Given the description of an element on the screen output the (x, y) to click on. 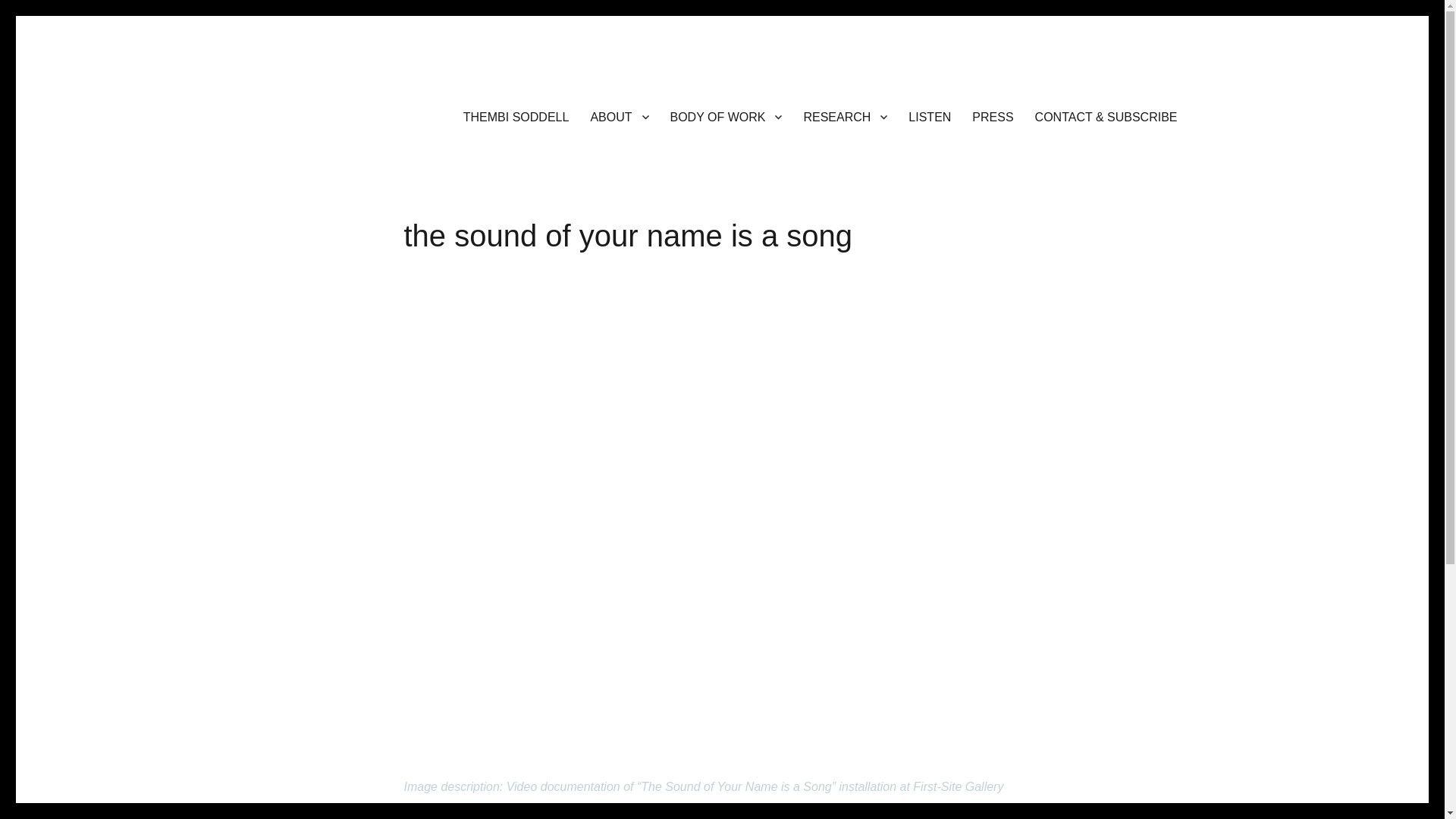
ABOUT (619, 116)
BODY OF WORK (726, 116)
THEMBI SODDELL (515, 116)
